Given the description of an element on the screen output the (x, y) to click on. 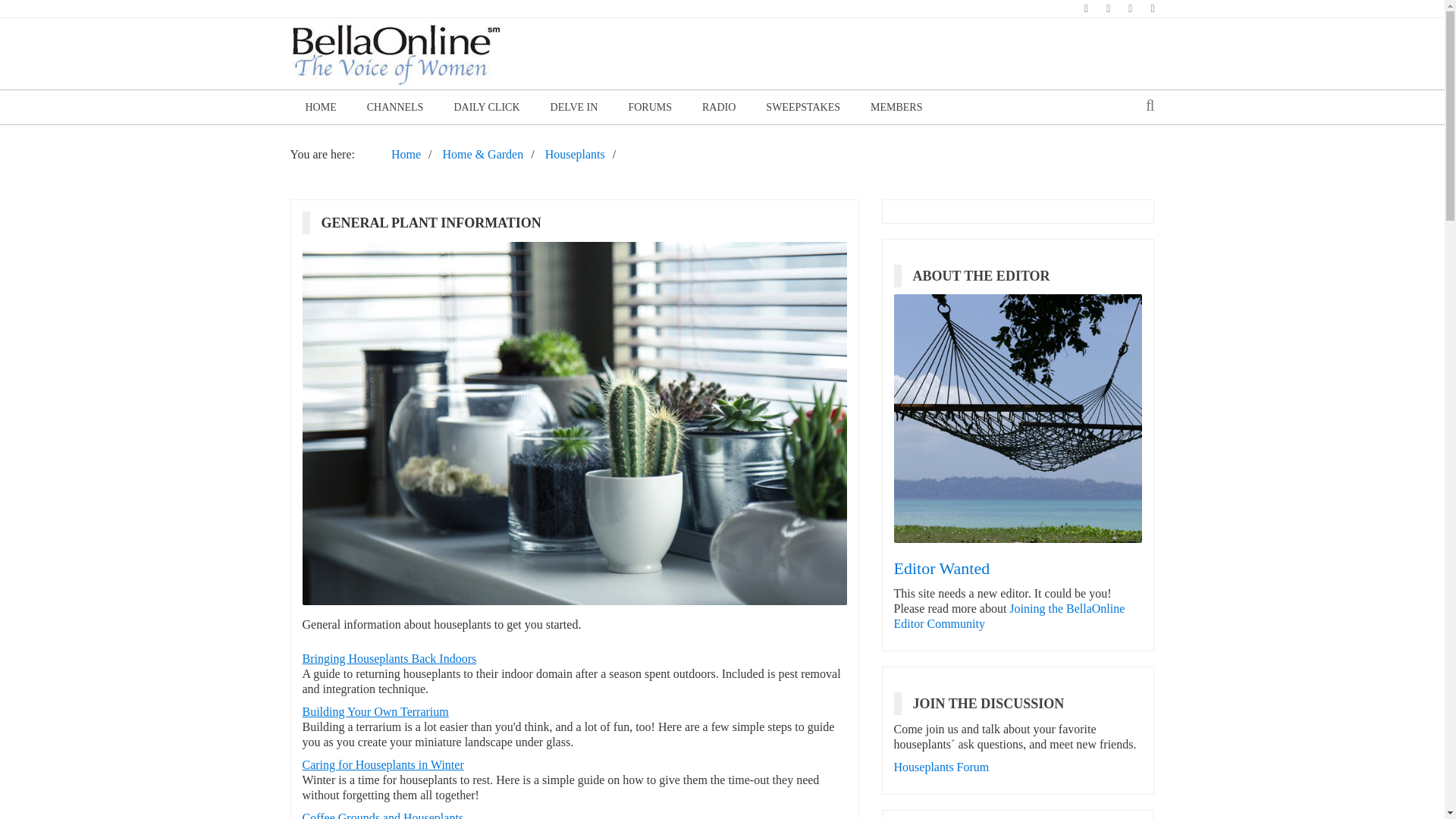
DAILY CLICK (486, 107)
CHANNELS (395, 107)
HOME (319, 107)
FORUMS (649, 107)
RADIO (719, 107)
SWEEPSTAKES (803, 107)
DELVE IN (573, 107)
